Given the description of an element on the screen output the (x, y) to click on. 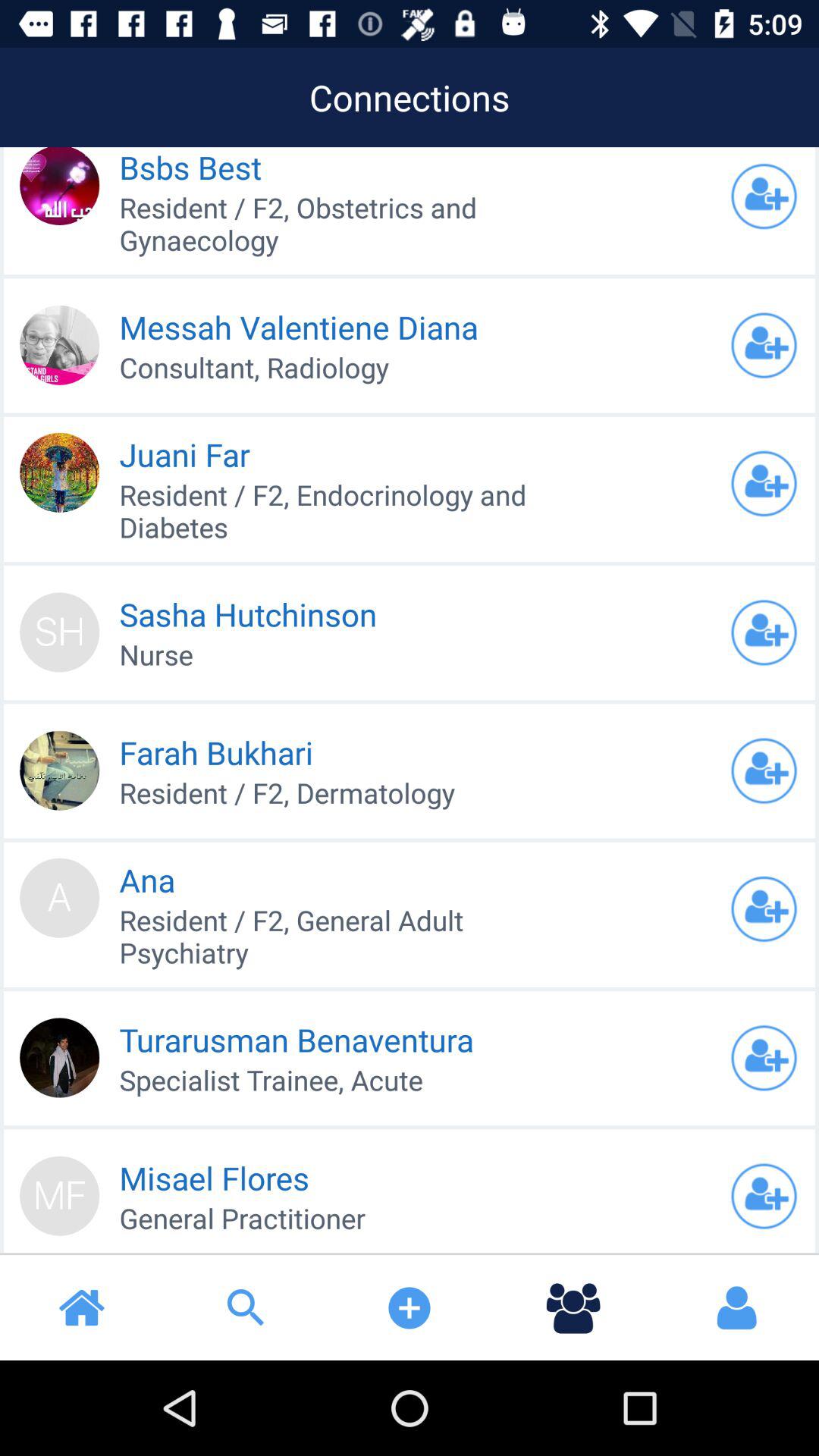
open profile (764, 770)
